Given the description of an element on the screen output the (x, y) to click on. 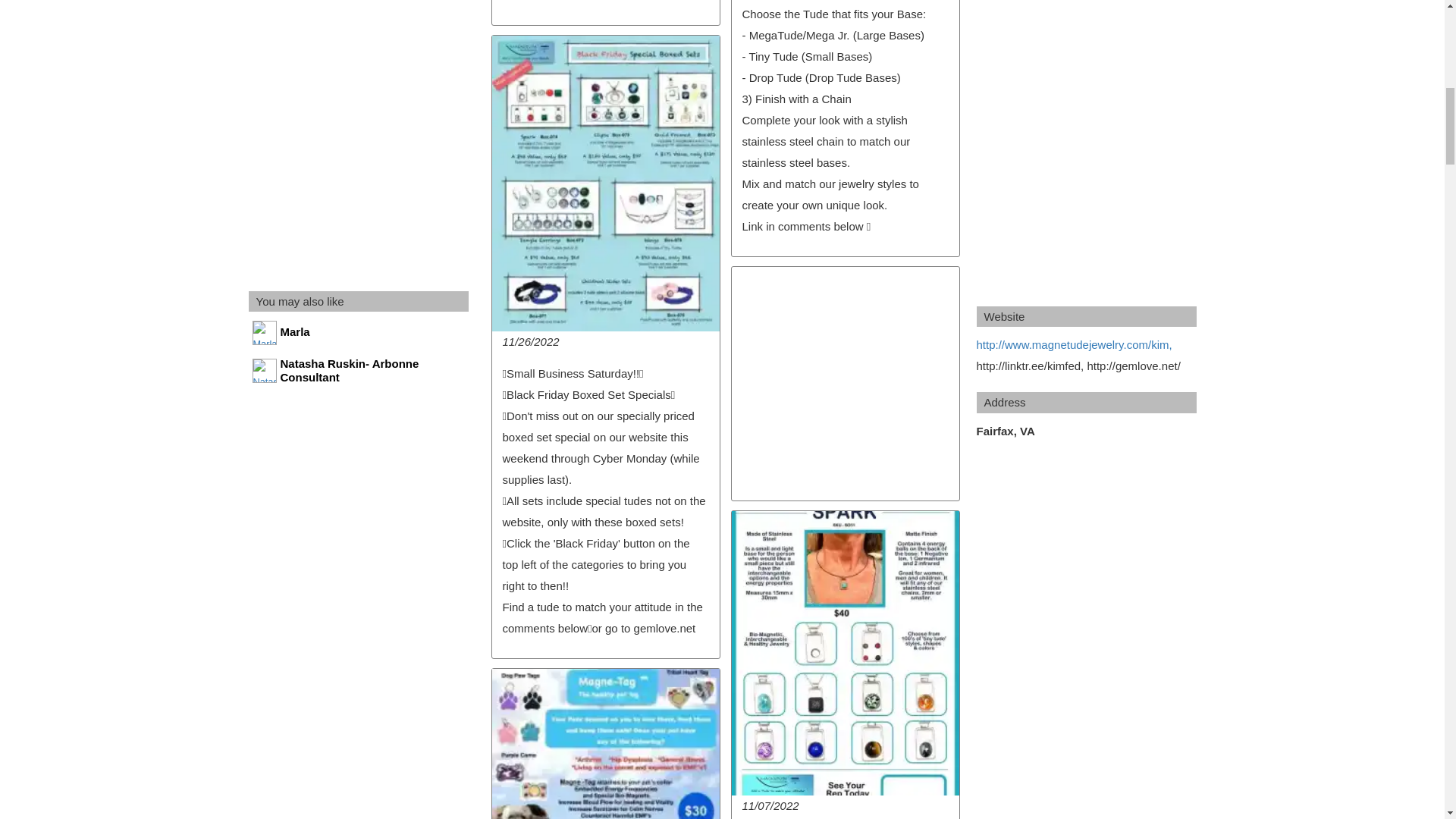
Advertisement (844, 382)
Natasha Ruskin- Arbonne Consultant (358, 371)
Marla (358, 335)
